Given the description of an element on the screen output the (x, y) to click on. 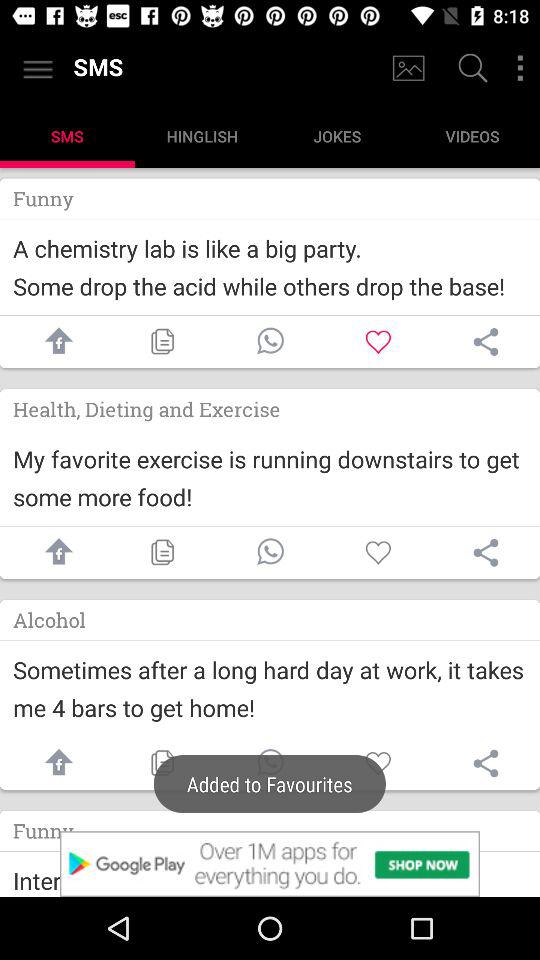
go to google play store (270, 864)
